Given the description of an element on the screen output the (x, y) to click on. 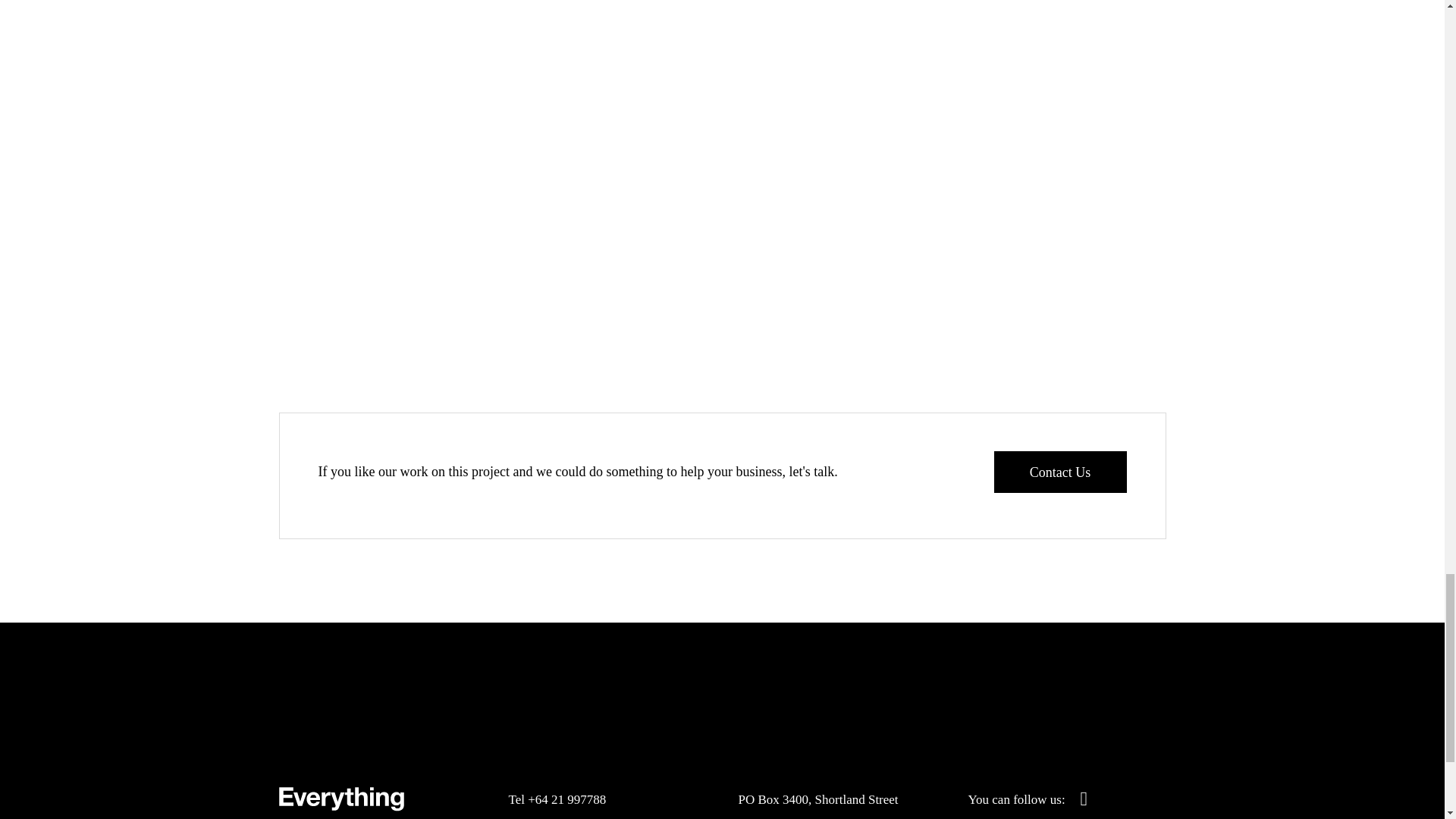
Contact Us (1058, 472)
